Given the description of an element on the screen output the (x, y) to click on. 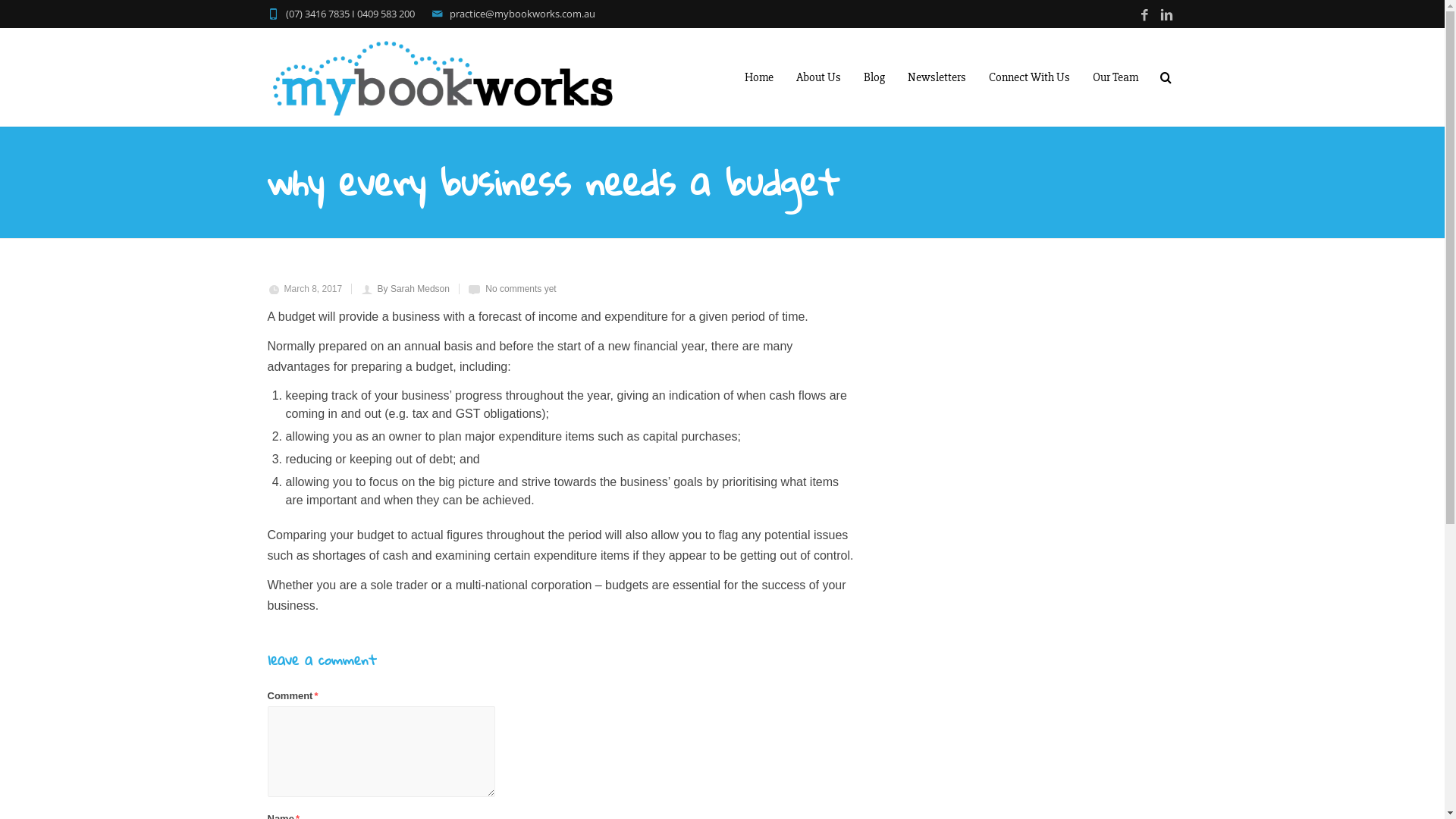
Newsletters Element type: text (936, 77)
LinkedIn Element type: hover (1166, 15)
Facebook Element type: hover (1143, 15)
Blog Element type: text (874, 77)
Home Element type: text (758, 77)
Our Team Element type: text (1115, 77)
No comments yet Element type: text (520, 288)
By Sarah Medson Element type: text (413, 288)
Connect With Us Element type: text (1028, 77)
About Us Element type: text (817, 77)
